Given the description of an element on the screen output the (x, y) to click on. 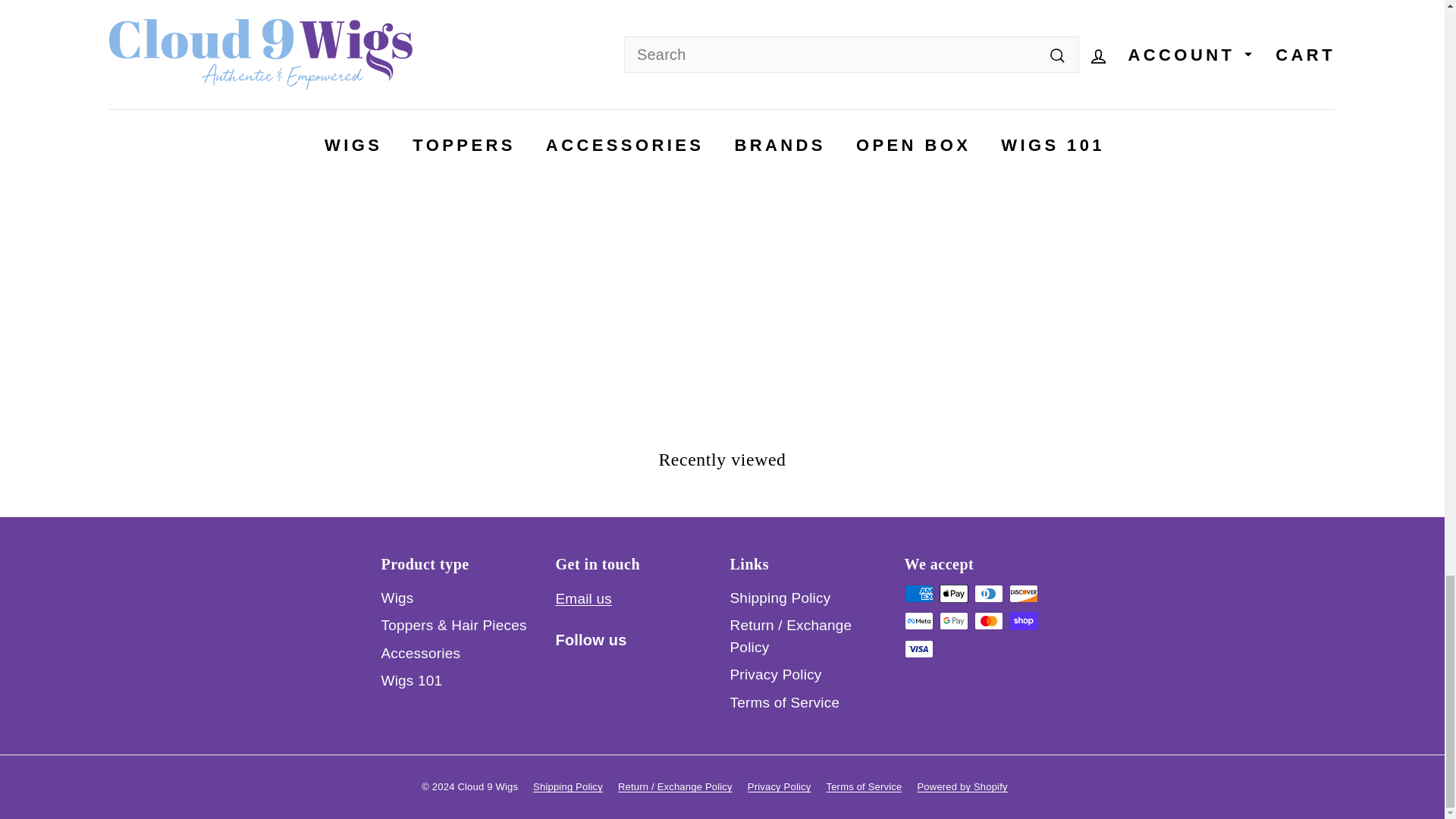
Visa (918, 648)
Apple Pay (953, 593)
Discover (1022, 593)
Google Pay (953, 620)
American Express (918, 593)
Mastercard (988, 620)
Diners Club (988, 593)
Meta Pay (918, 620)
Shop Pay (1022, 620)
